Given the description of an element on the screen output the (x, y) to click on. 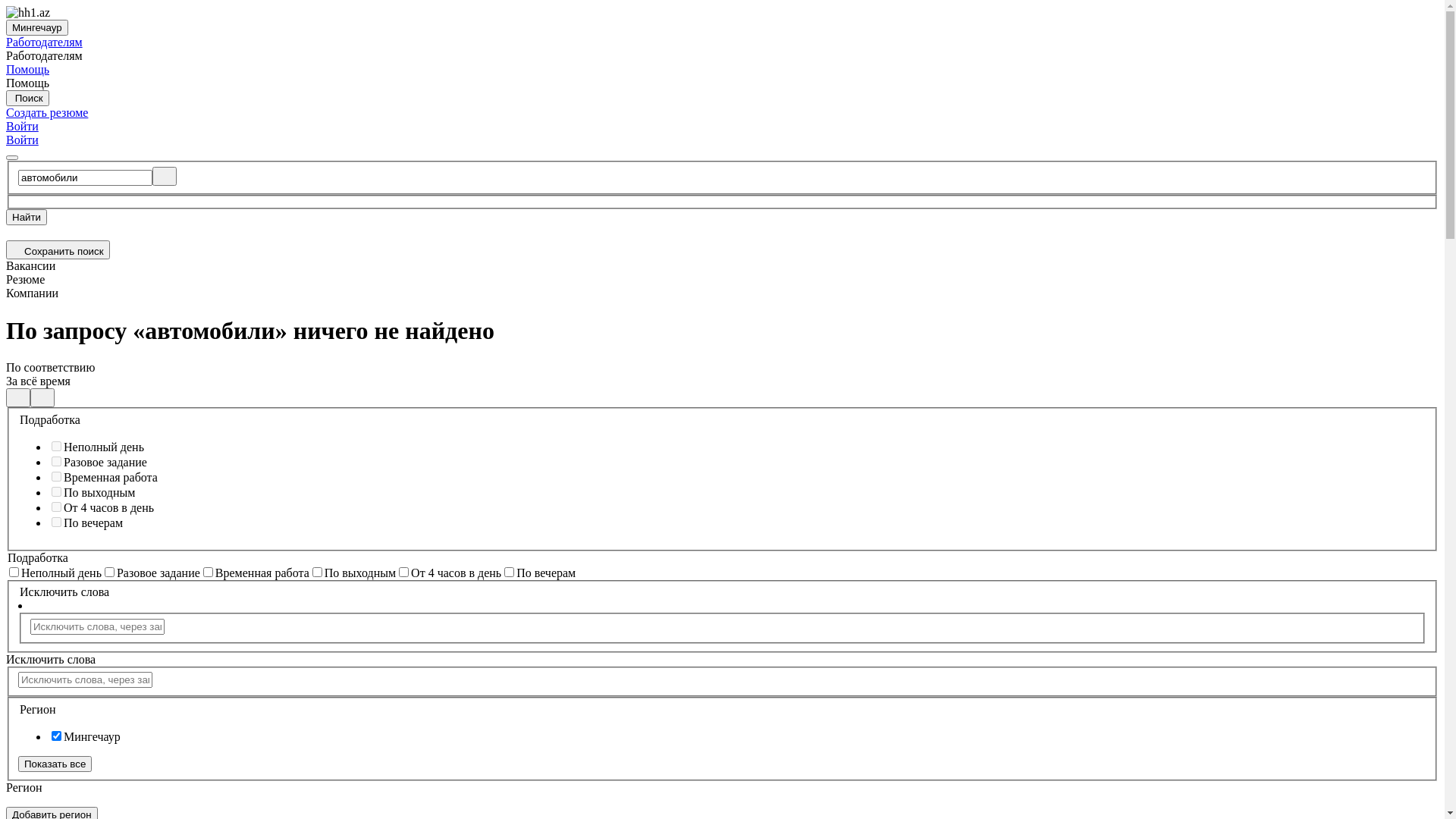
Clear Element type: hover (164, 175)
